Given the description of an element on the screen output the (x, y) to click on. 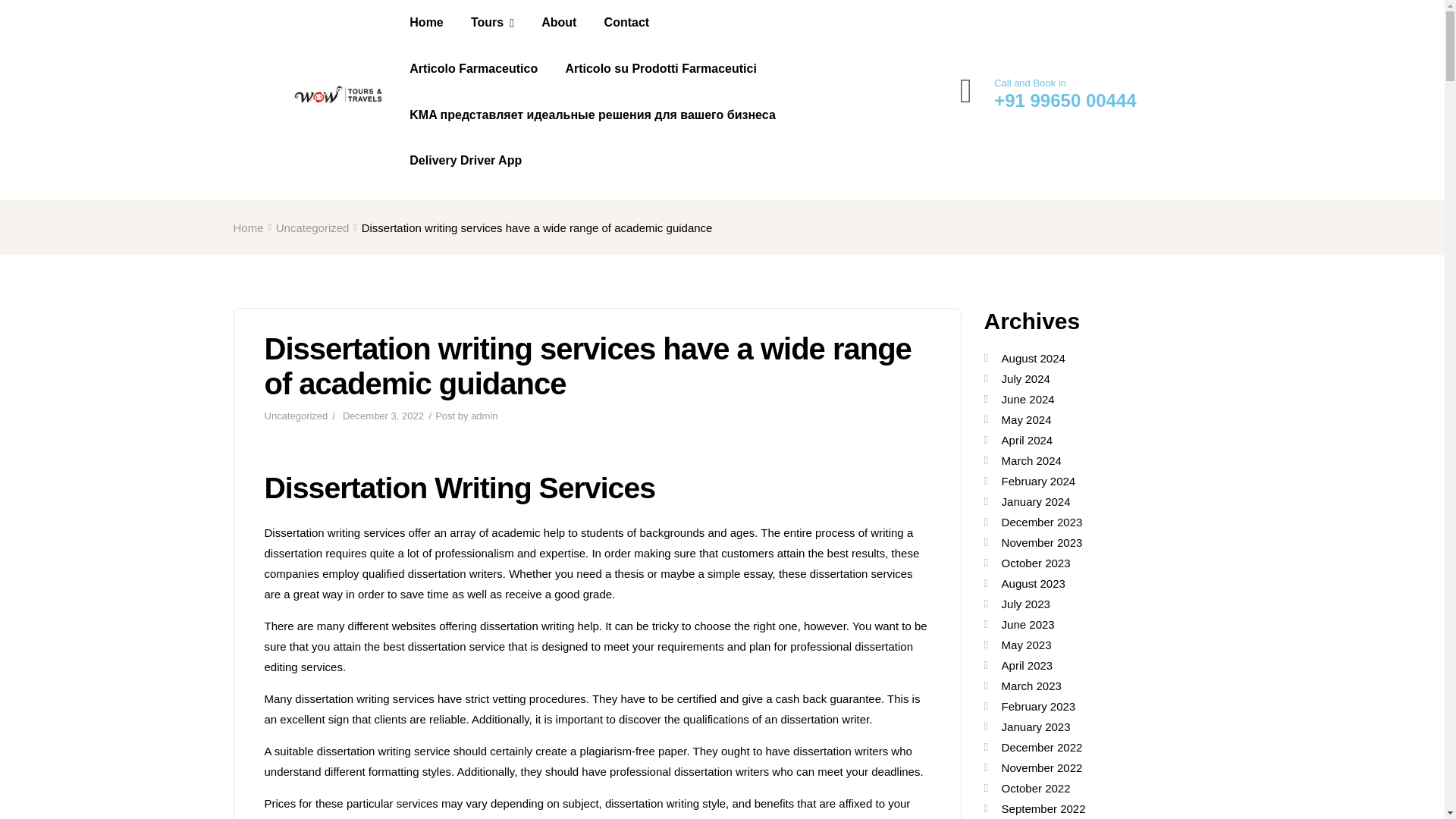
Delivery Driver App (465, 161)
November 2023 (1042, 542)
Contact (627, 22)
January 2023 (1035, 726)
Uncategorized (295, 415)
April 2024 (1026, 440)
professional dissertation editing services (587, 656)
May 2024 (1026, 419)
May 2023 (1026, 644)
January 2024 (1035, 501)
